Given the description of an element on the screen output the (x, y) to click on. 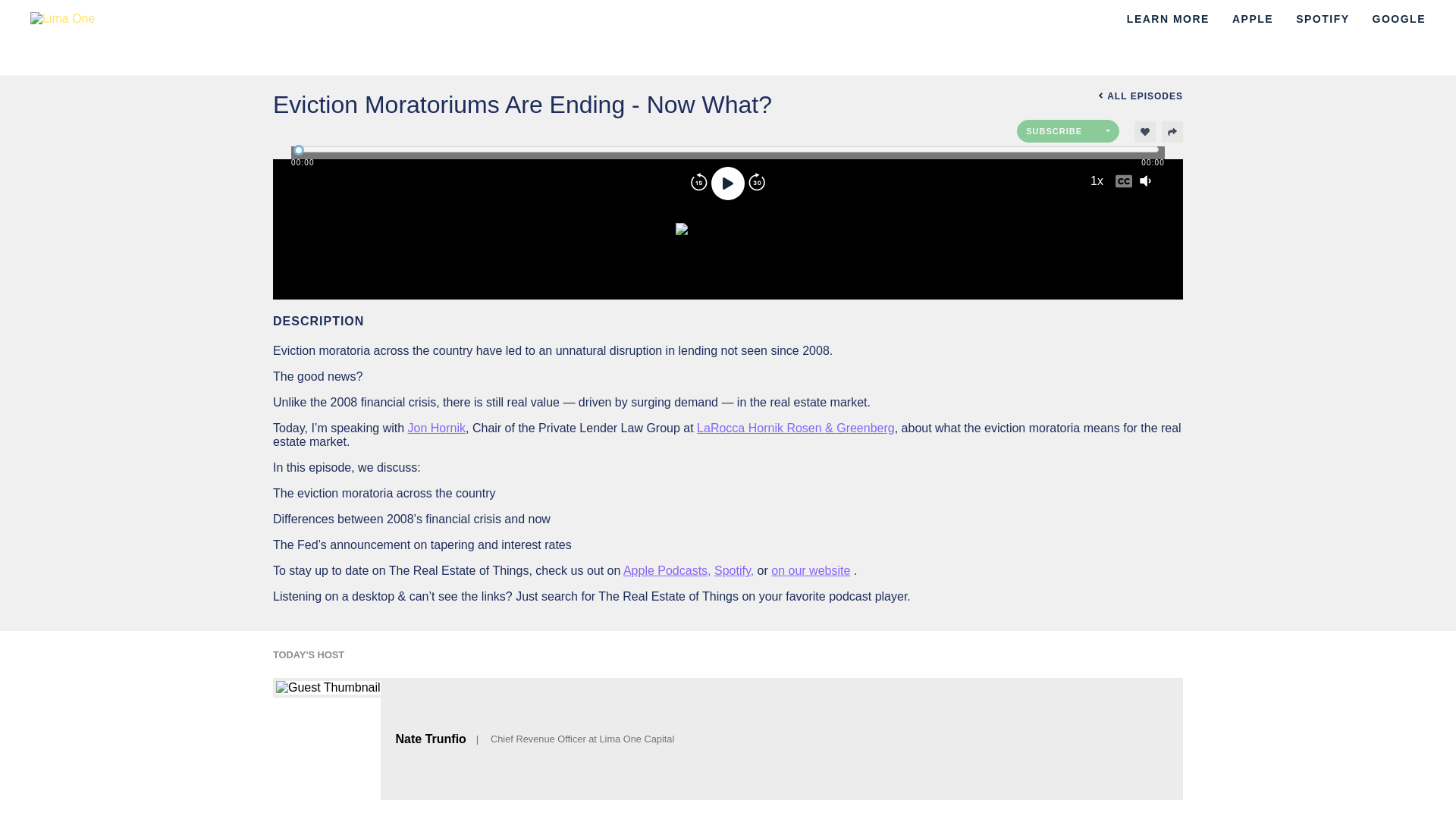
SPOTIFY (1322, 19)
Jon Hornik (436, 427)
ALL EPISODES (1099, 95)
Spotify, (734, 570)
Apple Podcasts, (667, 570)
Spotify (1322, 19)
LEARN MORE (1167, 19)
Lima One (373, 18)
GOOGLE (1399, 19)
on our website (810, 570)
